Given the description of an element on the screen output the (x, y) to click on. 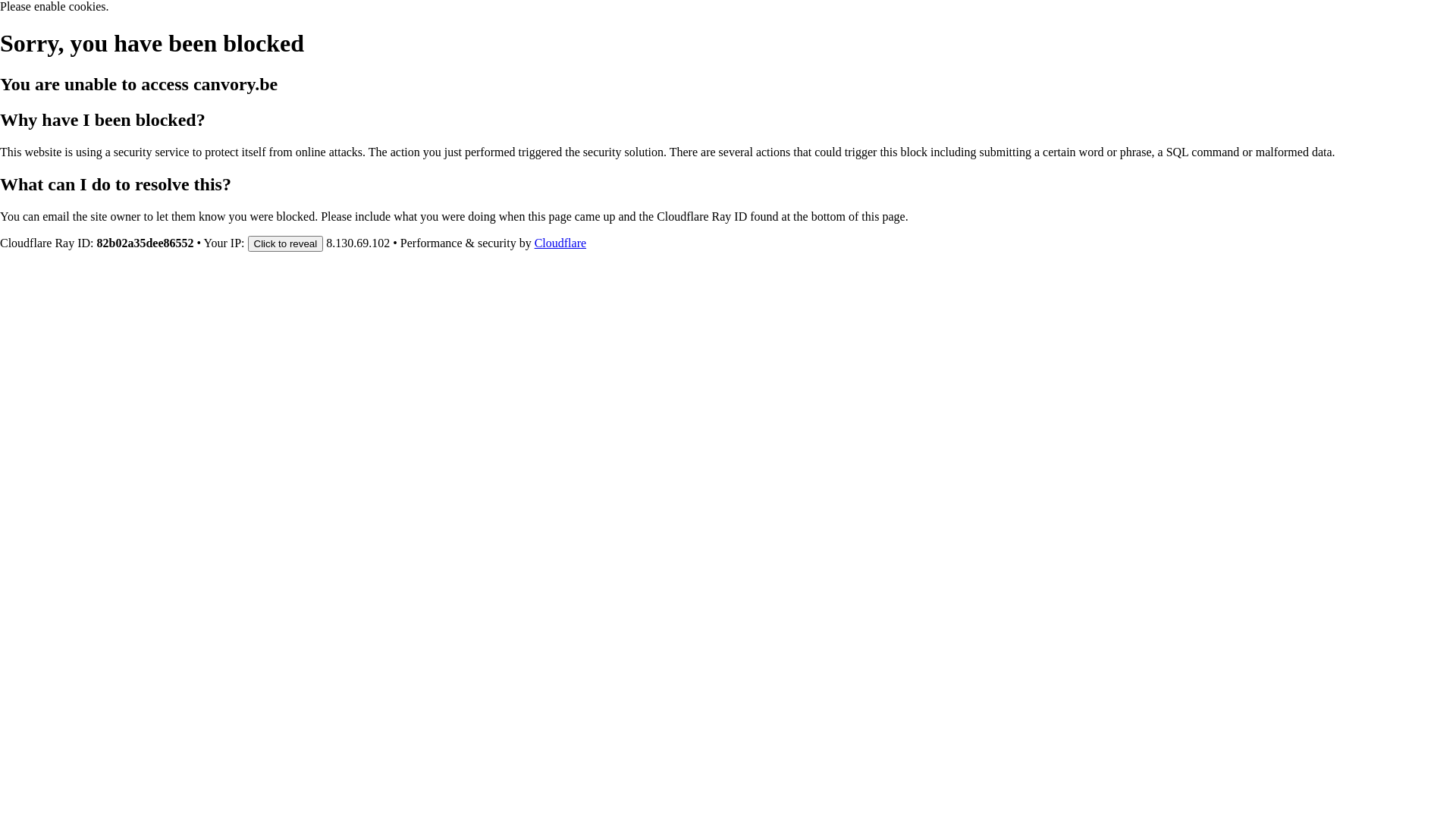
Cloudflare Element type: text (560, 242)
Click to reveal Element type: text (285, 243)
